Given the description of an element on the screen output the (x, y) to click on. 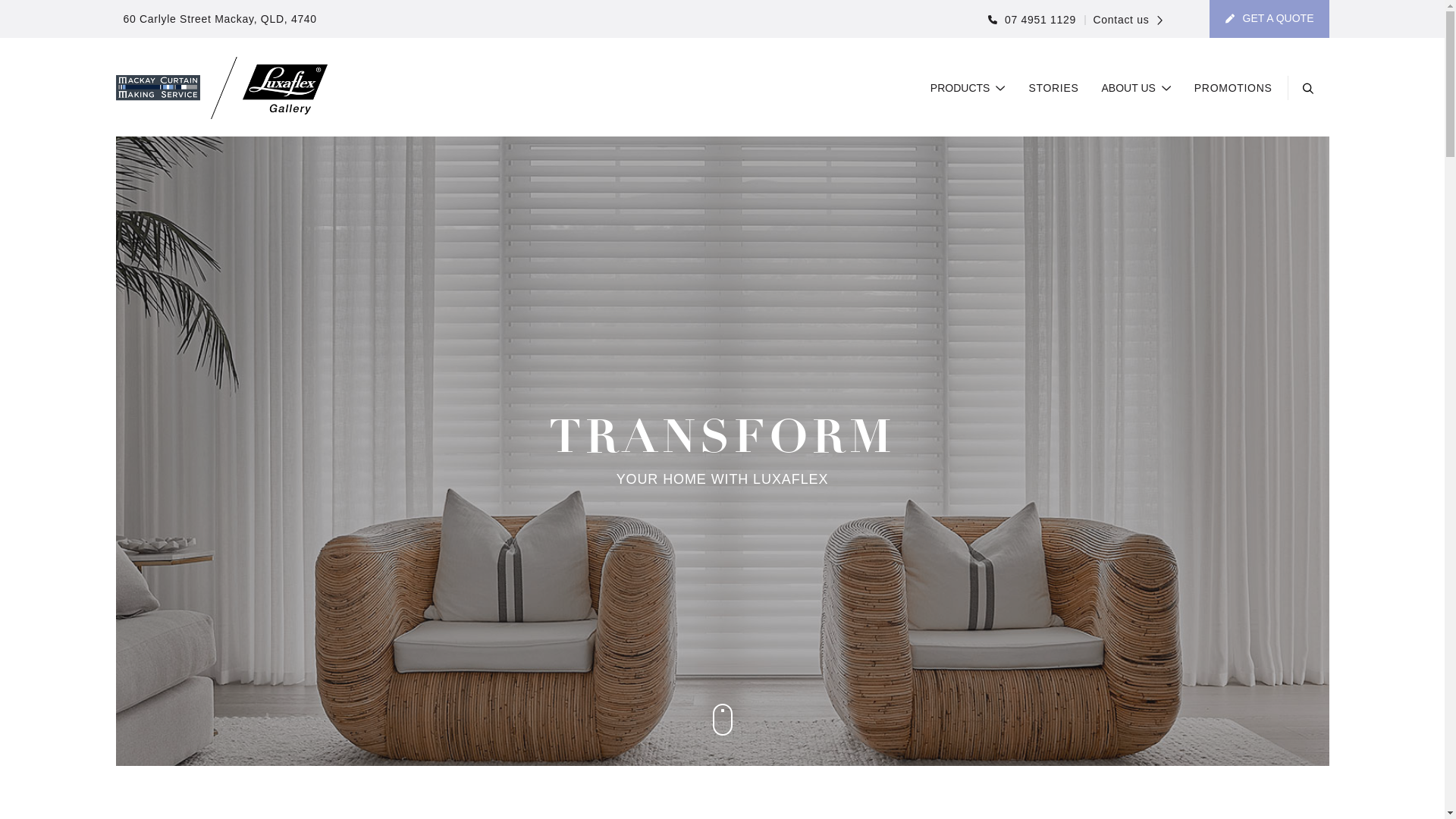
PROMOTIONS Element type: text (1233, 88)
07 4951 1129 Element type: text (1032, 20)
Contact us Element type: text (1123, 20)
ABOUT US Element type: text (1136, 88)
PRODUCTS Element type: text (968, 88)
Scroll to content Element type: text (722, 719)
GET A QUOTE Element type: text (1269, 18)
STORIES Element type: text (1053, 88)
